Given the description of an element on the screen output the (x, y) to click on. 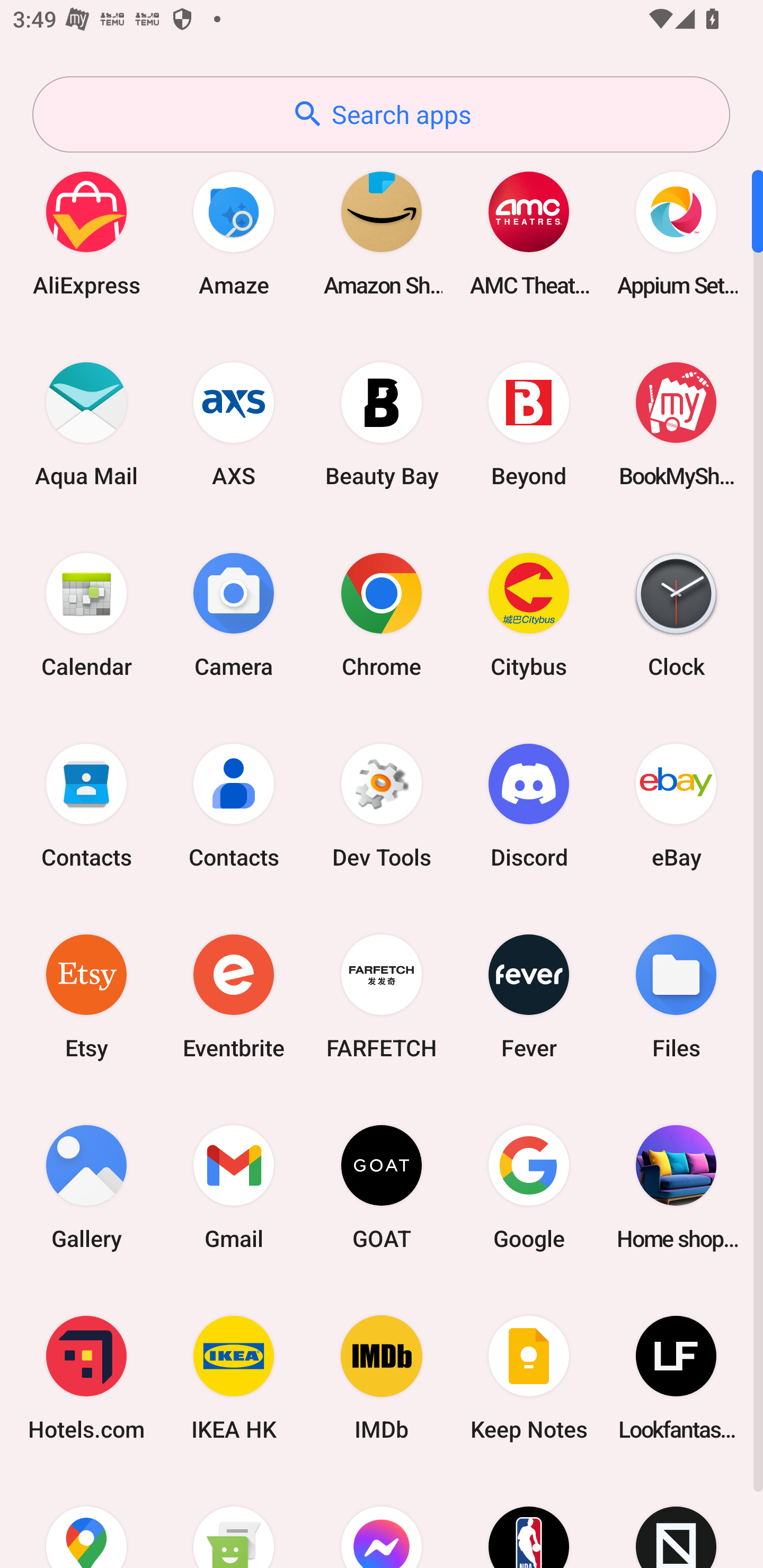
  Search apps (381, 114)
AliExpress (86, 233)
Amaze (233, 233)
Amazon Shopping (381, 233)
AMC Theatres (528, 233)
Appium Settings (676, 233)
Aqua Mail (86, 424)
AXS (233, 424)
Beauty Bay (381, 424)
Beyond (528, 424)
BookMyShow (676, 424)
Calendar (86, 614)
Camera (233, 614)
Chrome (381, 614)
Citybus (528, 614)
Clock (676, 614)
Contacts (86, 805)
Contacts (233, 805)
Dev Tools (381, 805)
Discord (528, 805)
eBay (676, 805)
Etsy (86, 996)
Eventbrite (233, 996)
FARFETCH (381, 996)
Fever (528, 996)
Files (676, 996)
Gallery (86, 1186)
Gmail (233, 1186)
GOAT (381, 1186)
Google (528, 1186)
Home shopping (676, 1186)
Hotels.com (86, 1377)
IKEA HK (233, 1377)
IMDb (381, 1377)
Keep Notes (528, 1377)
Lookfantastic (676, 1377)
